Given the description of an element on the screen output the (x, y) to click on. 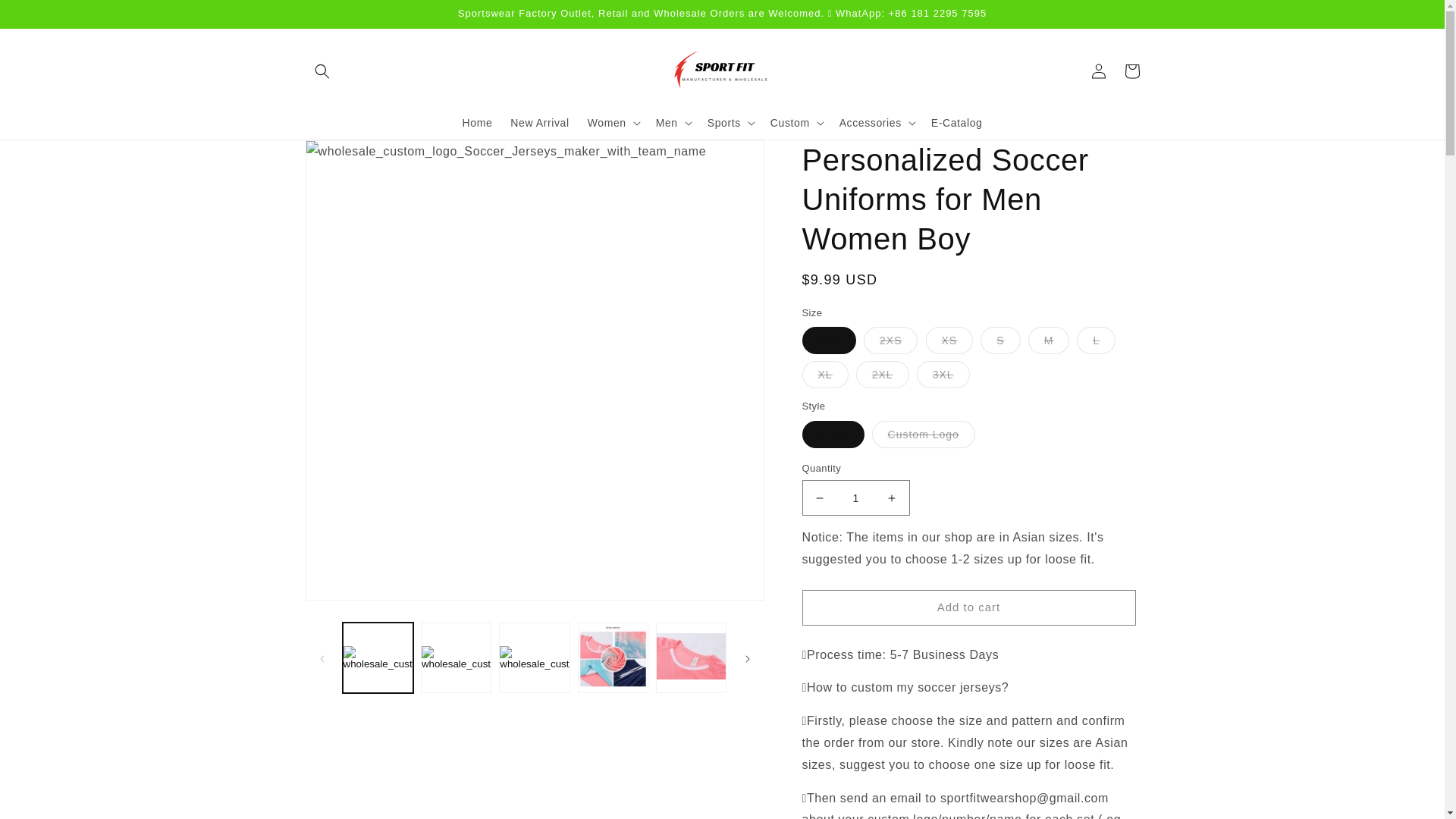
Skip to content (45, 17)
